Given the description of an element on the screen output the (x, y) to click on. 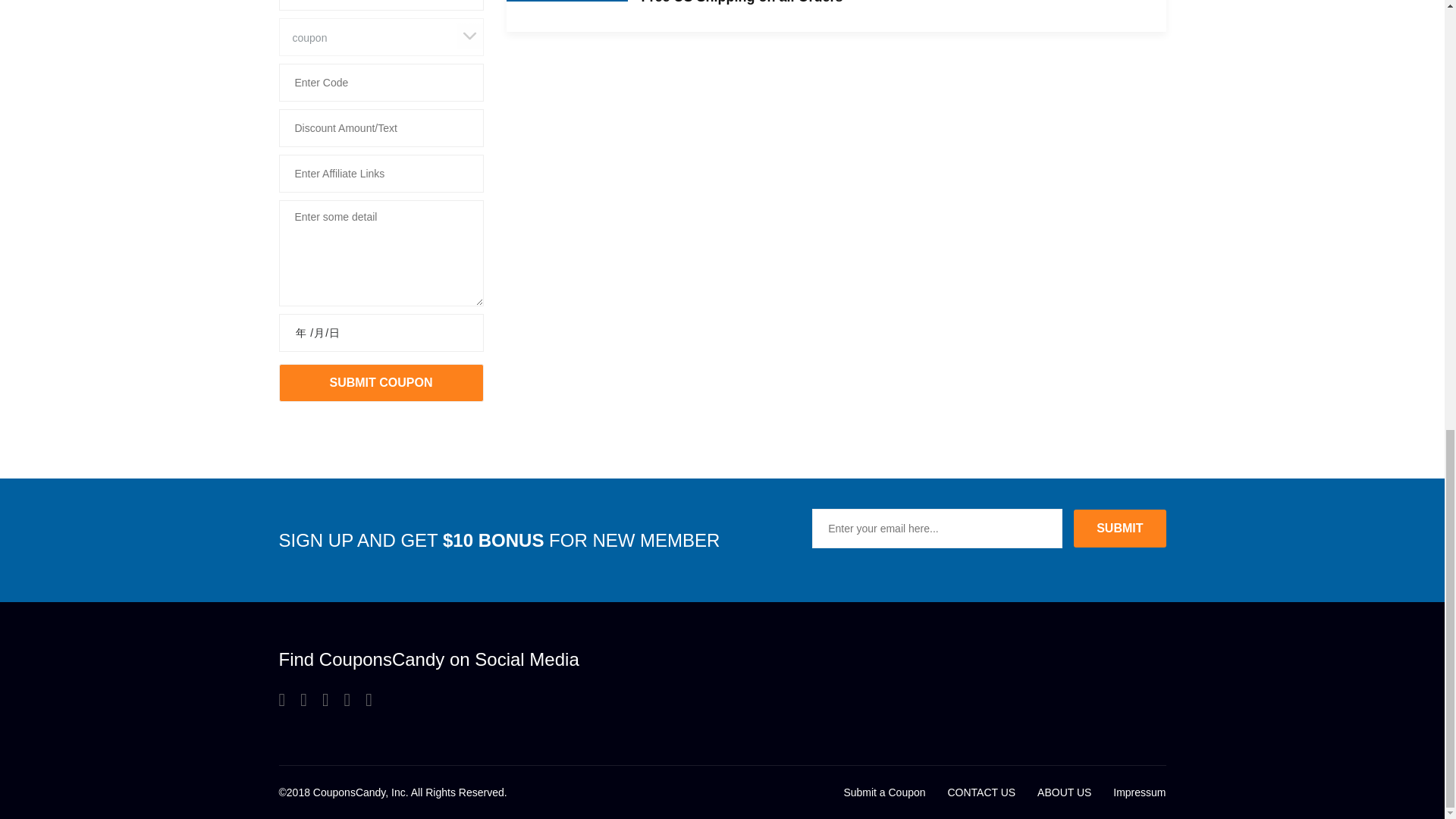
Submit (1120, 528)
Impressum (1139, 792)
ABOUT US (1063, 792)
Submit a Coupon (883, 792)
SUBMIT COUPON (381, 382)
Submit (1120, 528)
CONTACT US (980, 792)
SUBMIT COUPON (381, 382)
